Given the description of an element on the screen output the (x, y) to click on. 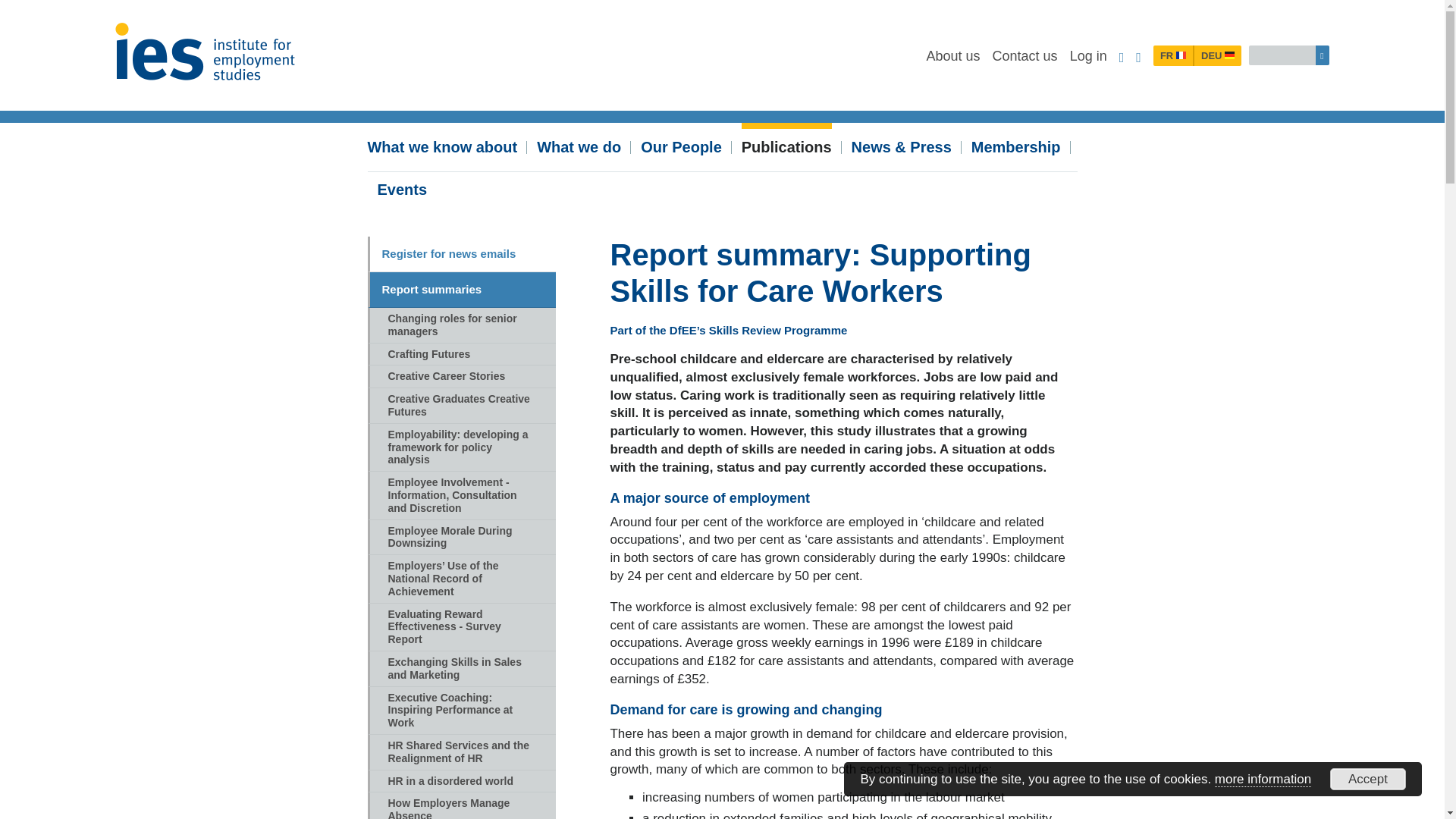
How Employers Manage Absence (460, 805)
Exchanging Skills in Sales and Marketing (460, 669)
What we know about (441, 143)
Evaluating Reward Effectiveness - Survey Report (460, 627)
Creative Career Stories (460, 376)
Events (402, 186)
Crafting Futures (460, 354)
Register for news emails (460, 253)
Executive Coaching: Inspiring Performance at Work (460, 710)
What we do (579, 143)
